Given the description of an element on the screen output the (x, y) to click on. 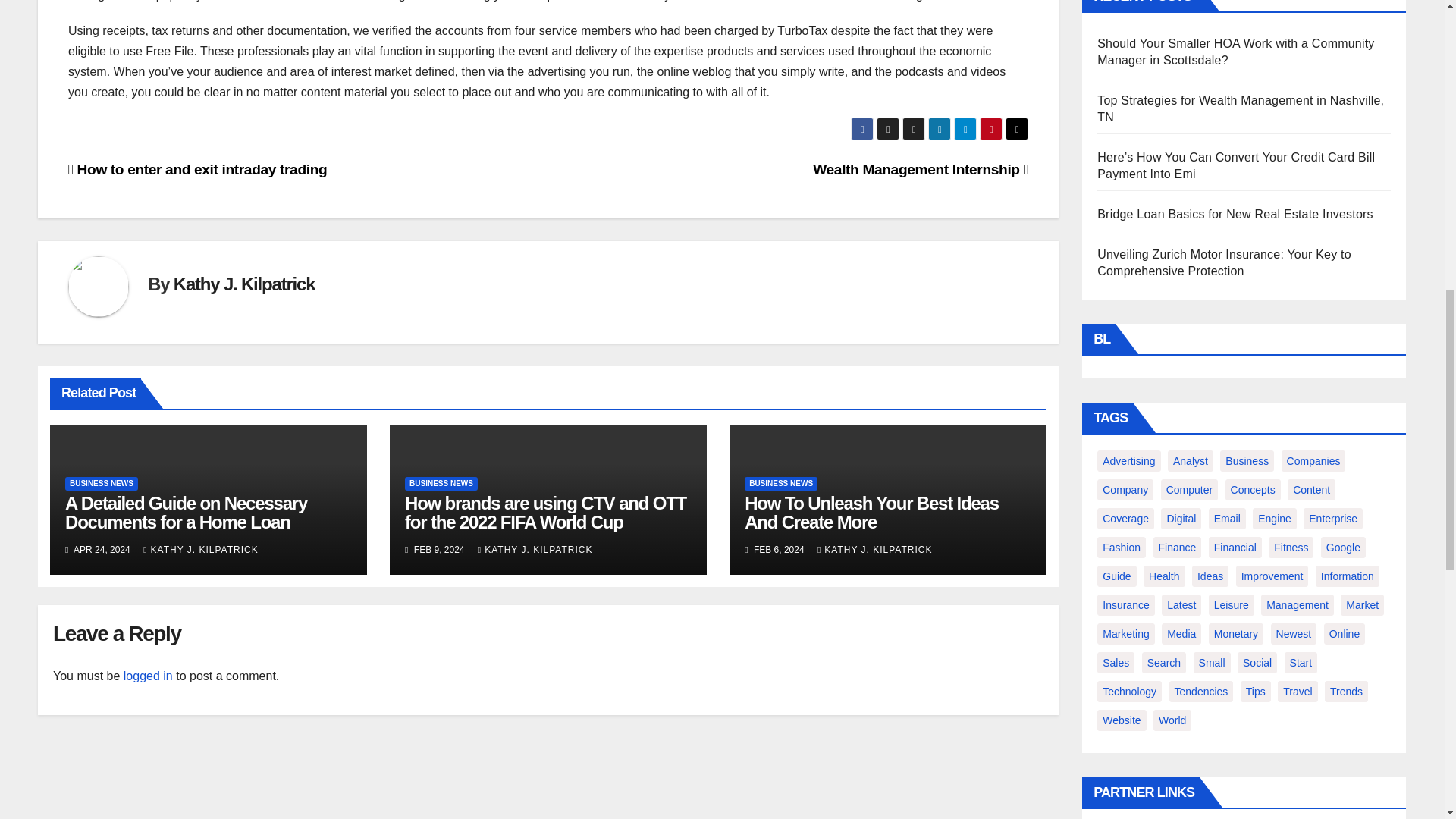
How to enter and exit intraday trading (197, 169)
Kathy J. Kilpatrick (244, 283)
Wealth Management Internship (919, 169)
